Given the description of an element on the screen output the (x, y) to click on. 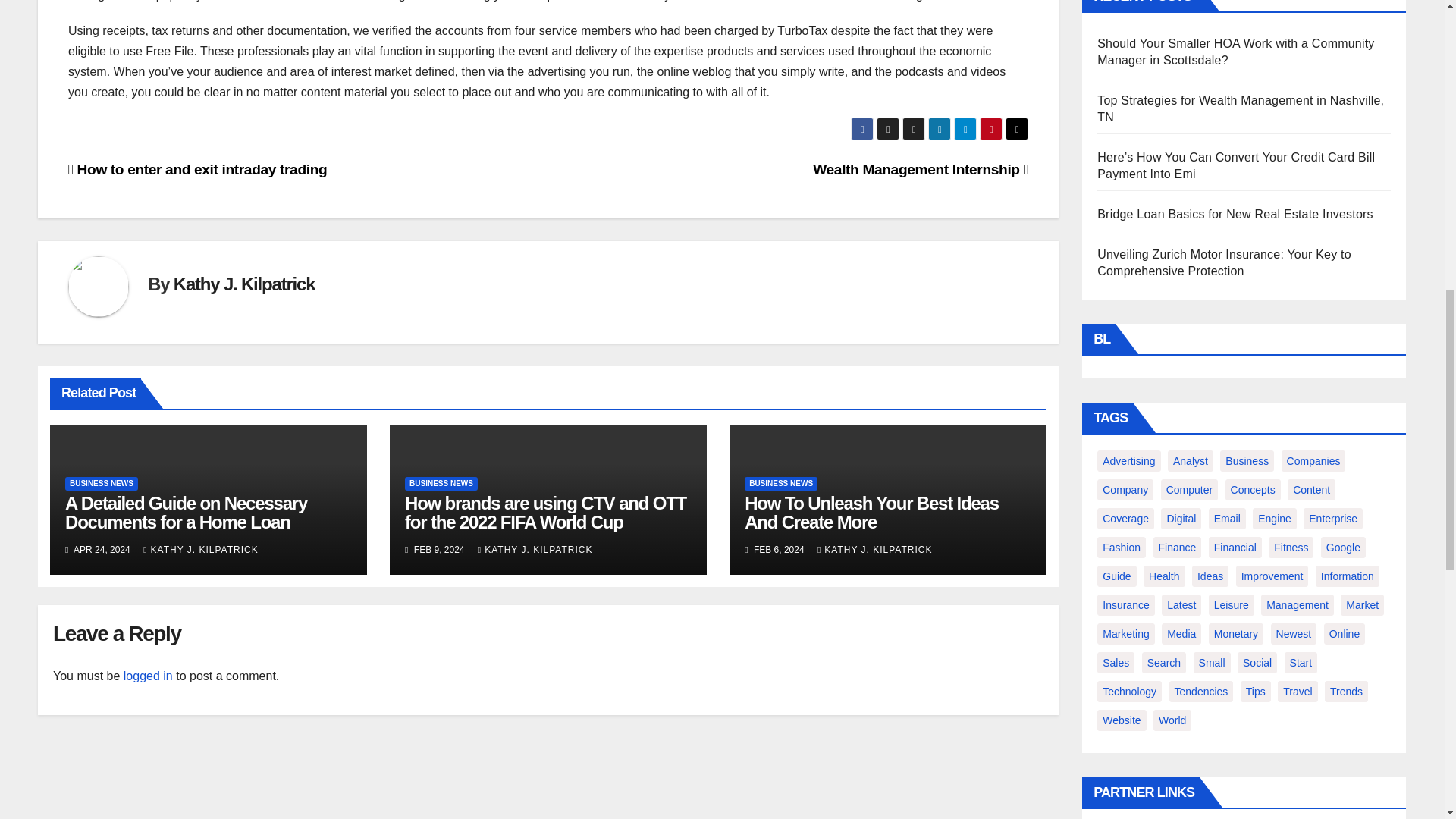
How to enter and exit intraday trading (197, 169)
Kathy J. Kilpatrick (244, 283)
Wealth Management Internship (919, 169)
